Given the description of an element on the screen output the (x, y) to click on. 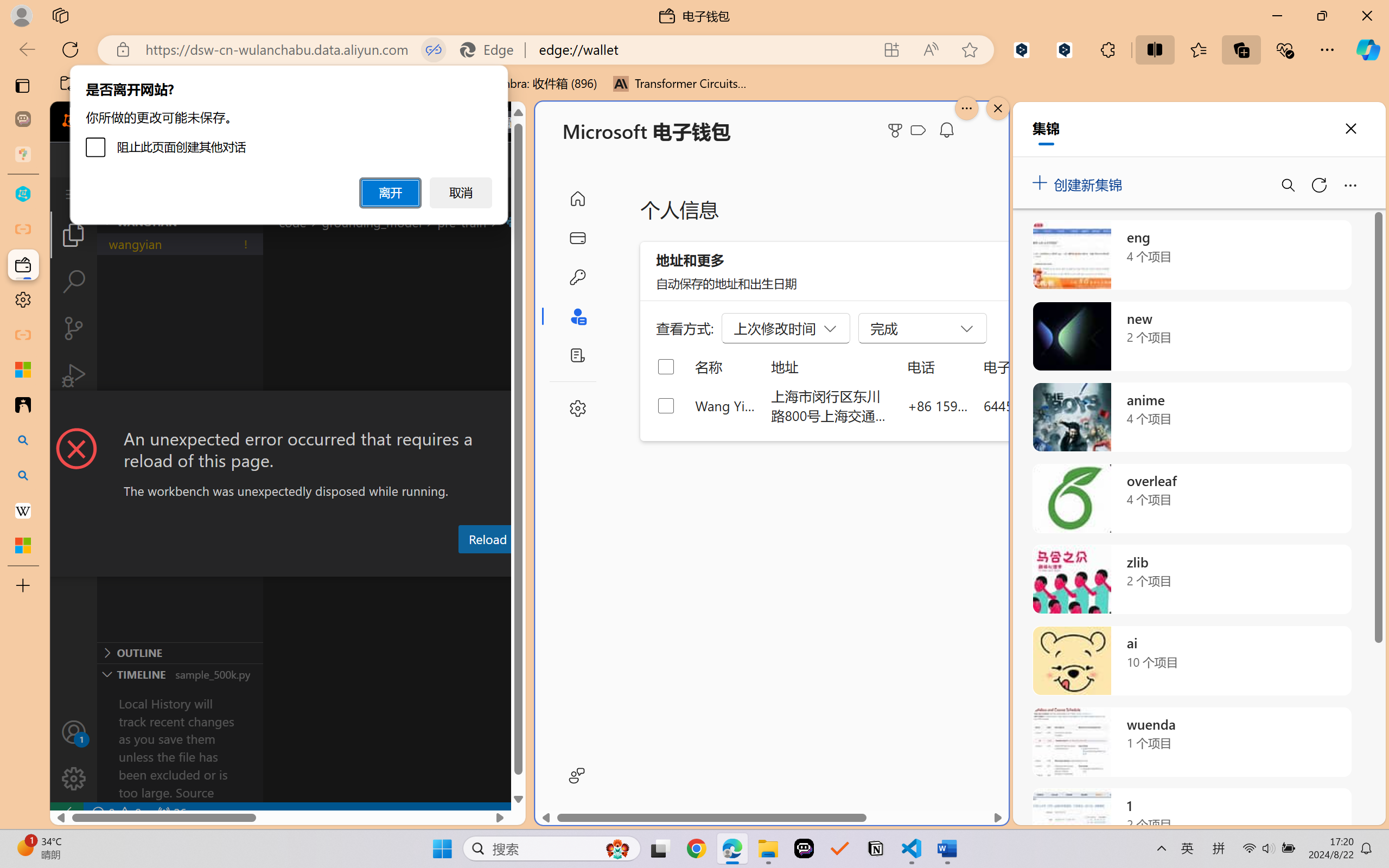
Adjust indents and spacing - Microsoft Support (22, 369)
Extensions (Ctrl+Shift+X) (73, 422)
No Problems (115, 812)
Microsoft Rewards (896, 129)
Terminal (Ctrl+`) (553, 565)
Run and Debug (Ctrl+Shift+D) (73, 375)
